Given the description of an element on the screen output the (x, y) to click on. 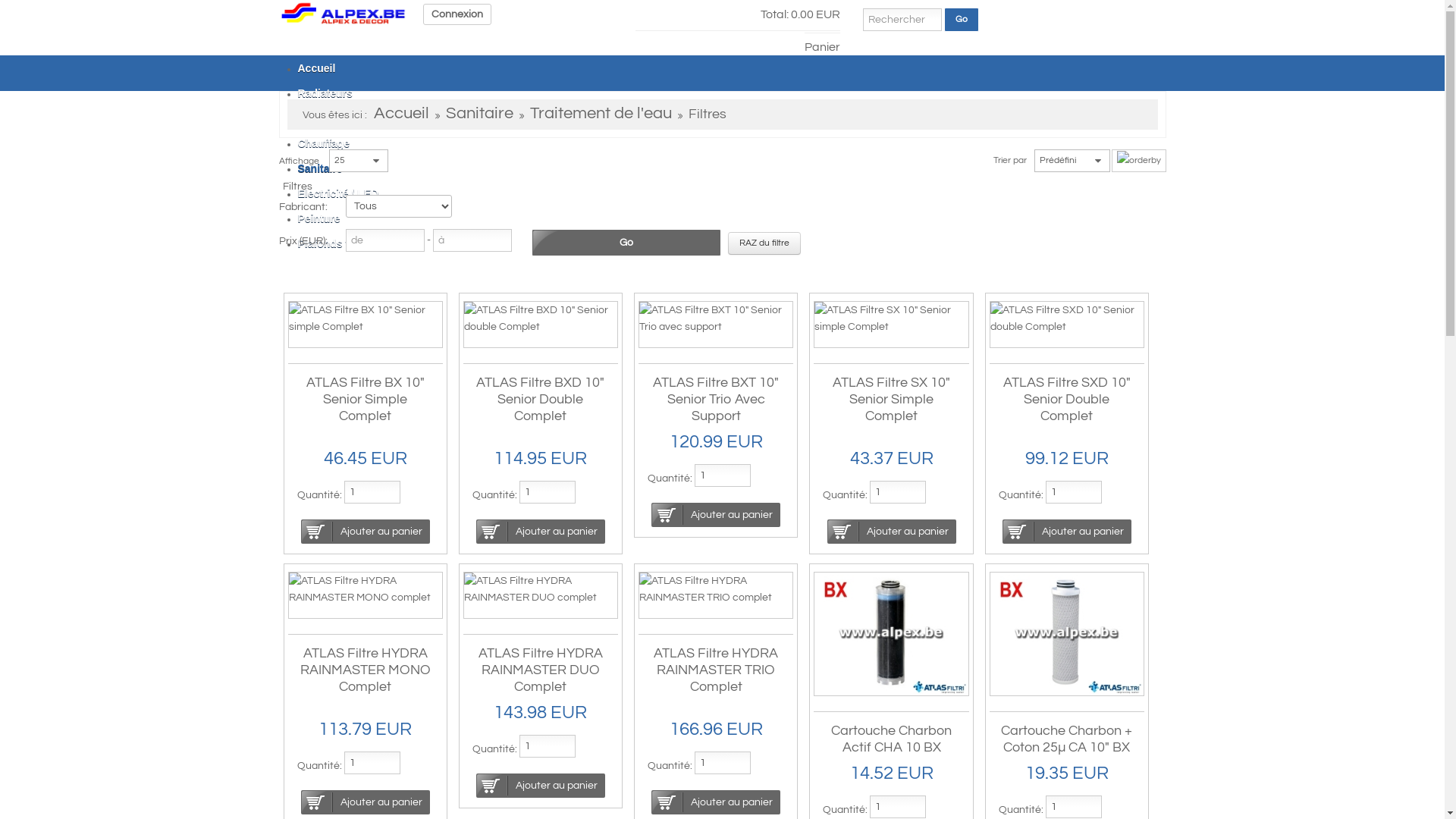
Accueil Element type: hover (343, 12)
Sanitaire Element type: text (479, 114)
Accueil Element type: text (400, 114)
ATLAS Filtre BXD 10" Senior Double Complet Element type: text (540, 399)
ATLAS Filtre HYDRA RAINMASTER MONO complet Element type: hover (364, 588)
Ajouter au panier Element type: text (540, 785)
ATLAS Filtre HYDRA RAINMASTER DUO complet Element type: hover (540, 588)
RAZ du filtre Element type: text (764, 243)
Plafonds tendus Element type: text (338, 243)
ATLAS Filtre HYDRA RAINMASTER TRIO complet Element type: hover (715, 588)
Traitement de l'eau Element type: text (600, 114)
ATLAS Filtre BX 10" Senior simple Complet Element type: hover (364, 318)
Go Element type: text (960, 19)
Cartouche Charbon Actif CHA 10 BX Element type: text (891, 738)
Ajouter au panier Element type: text (540, 531)
ATLAS Filtre SXD 10" Senior Double Complet Element type: text (1066, 399)
Ajouter au panier Element type: text (365, 802)
Panier Element type: text (821, 42)
ATLAS Filtre SXD 10" Senior double Complet Element type: hover (1066, 318)
Cartouche charbon actif  CHA 10 BX Element type: hover (890, 633)
ATLAS Filtre BXT 10" Senior Trio avec support Element type: hover (715, 318)
Peinture Element type: text (318, 218)
Accueil Element type: text (316, 68)
ATLAS Filtre SX 10" Senior Simple Complet Element type: text (891, 399)
Ajouter au panier Element type: text (365, 531)
ATLAS Filtre HYDRA RAINMASTER TRIO Complet Element type: text (715, 669)
Connexion Element type: text (457, 14)
ATLAS Filtre BX 10" Senior Simple Complet Element type: text (365, 399)
Ajouter au panier Element type: text (715, 514)
ATLAS Filtre HYDRA RAINMASTER DUO Complet Element type: text (540, 669)
Ajouter au panier Element type: text (891, 531)
ATLAS Filtre HYDRA RAINMASTER MONO Complet Element type: text (365, 669)
ATLAS Filtre SX 10" Senior simple Complet Element type: hover (890, 318)
Ajouter au panier Element type: text (1066, 531)
ATLAS Filtre BXT 10" Senior Trio Avec Support Element type: text (715, 399)
ATLAS Filtre BXD 10" Senior double Complet Element type: hover (540, 318)
Ajouter au panier Element type: text (715, 802)
Sanitaire Element type: text (319, 168)
Radiateurs Element type: text (324, 93)
Chauffage Element type: text (322, 143)
Raccordement - Tuyaux Element type: text (357, 118)
